Given the description of an element on the screen output the (x, y) to click on. 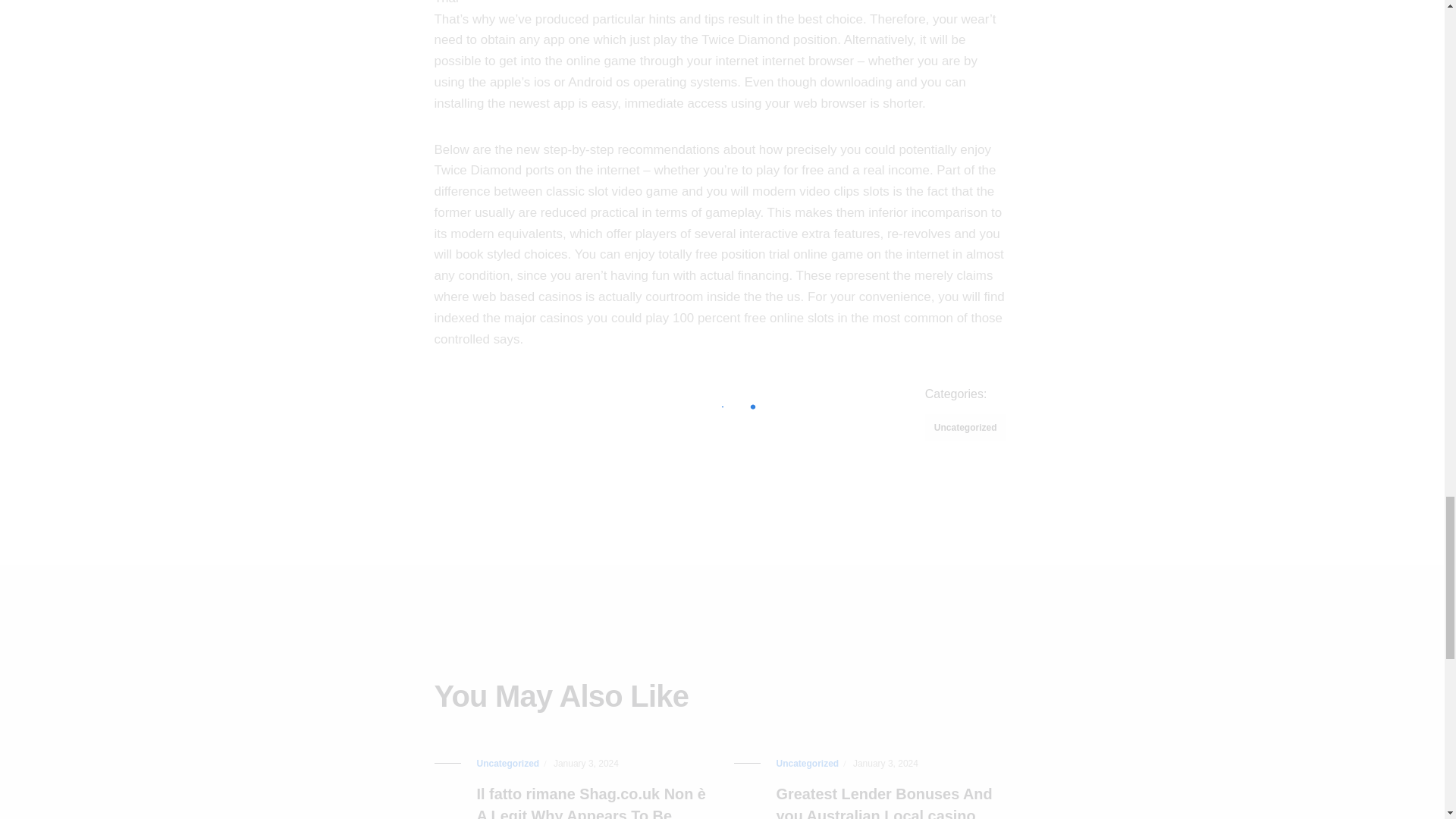
Uncategorized (965, 427)
Uncategorized (507, 763)
January 3, 2024 (585, 763)
